Given the description of an element on the screen output the (x, y) to click on. 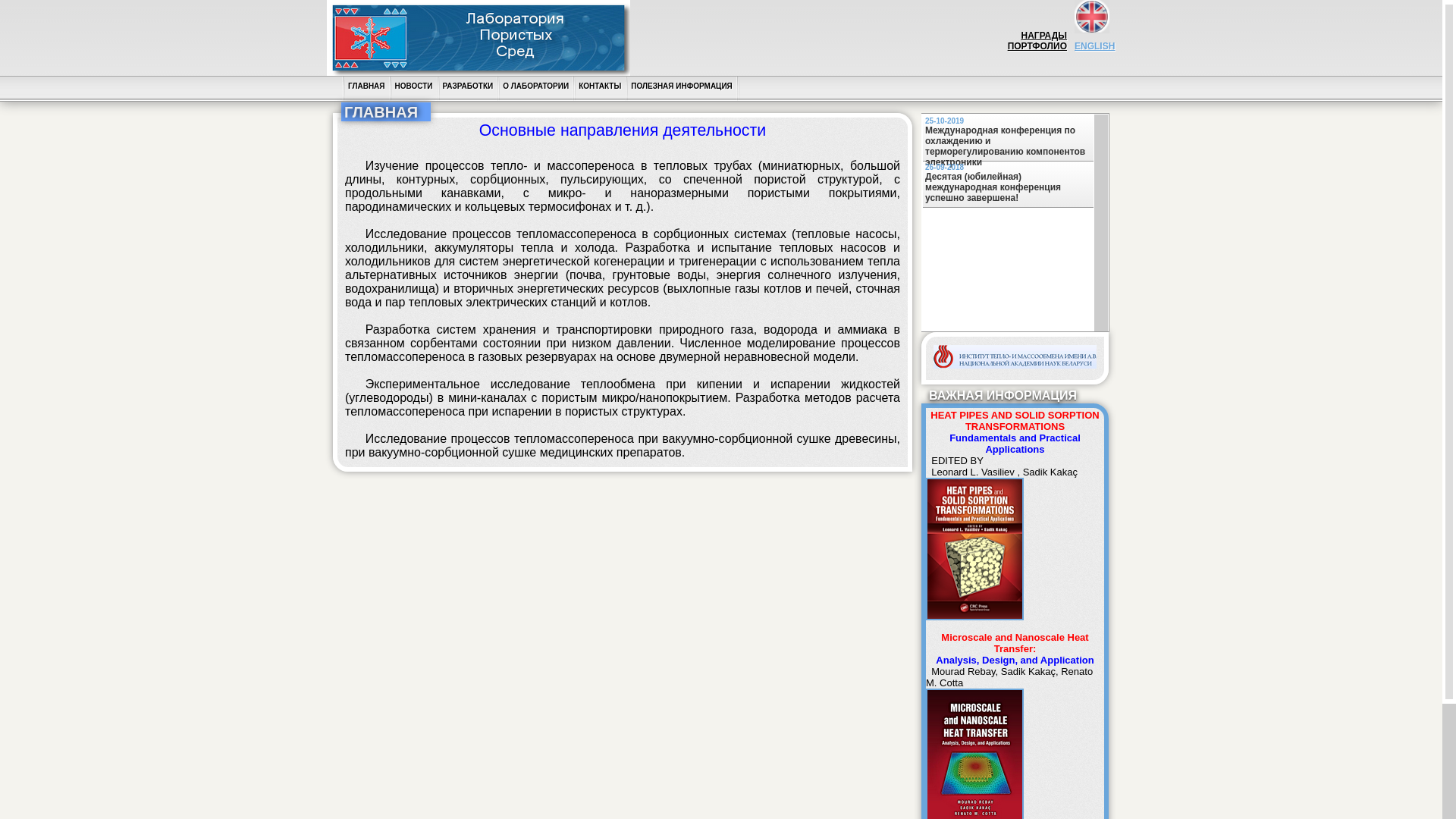
ENGLISH Element type: text (1094, 51)
